Given the description of an element on the screen output the (x, y) to click on. 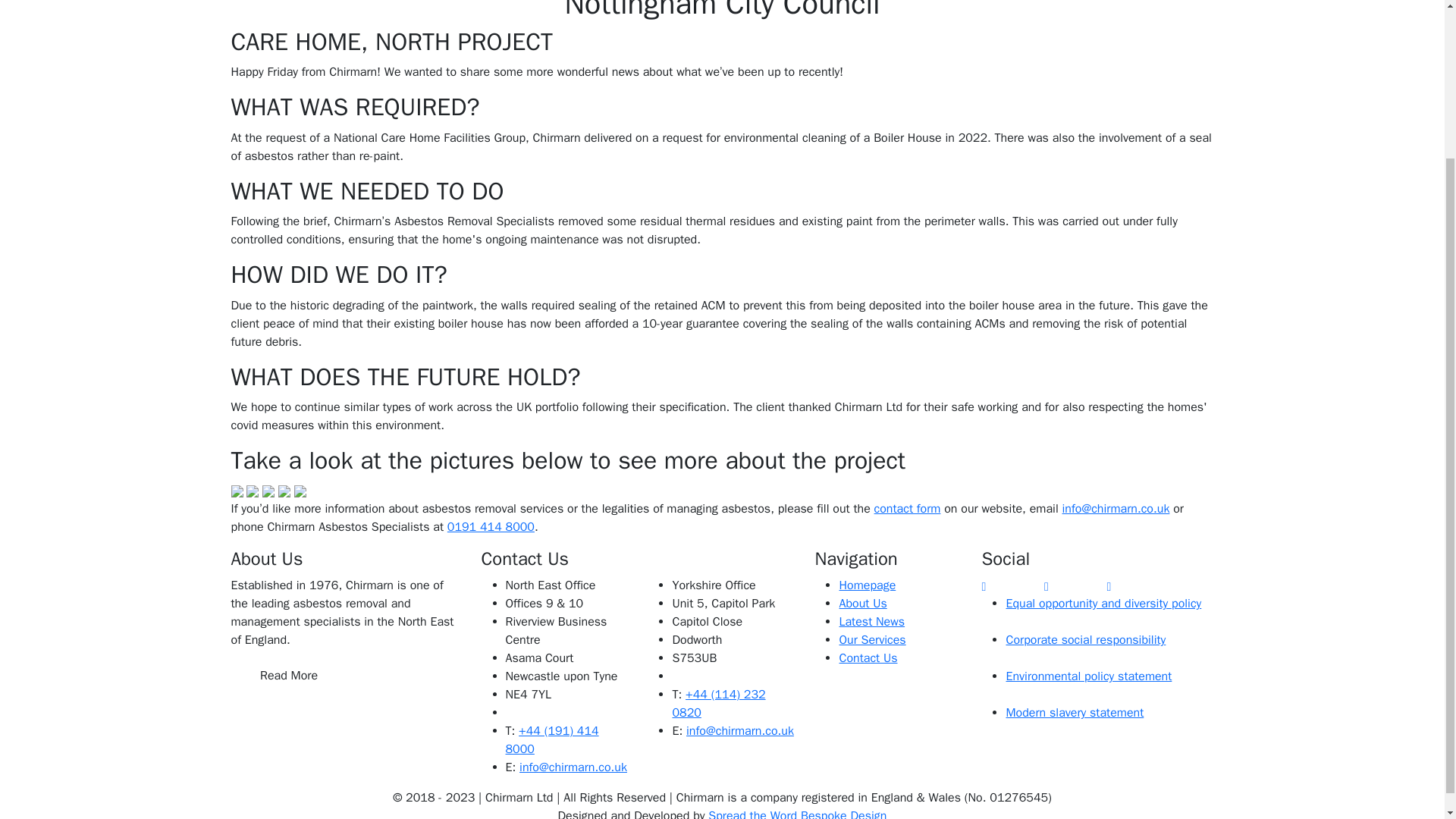
Homepage (866, 585)
Read More (288, 675)
Latest News (871, 621)
Modern slavery statement (1074, 712)
Our Services (871, 639)
About Us (862, 603)
Environmental policy statement (1089, 676)
0191 414 8000 (490, 526)
Corporate social responsibility (1086, 639)
Equal opportunity and diversity policy (1103, 603)
